Given the description of an element on the screen output the (x, y) to click on. 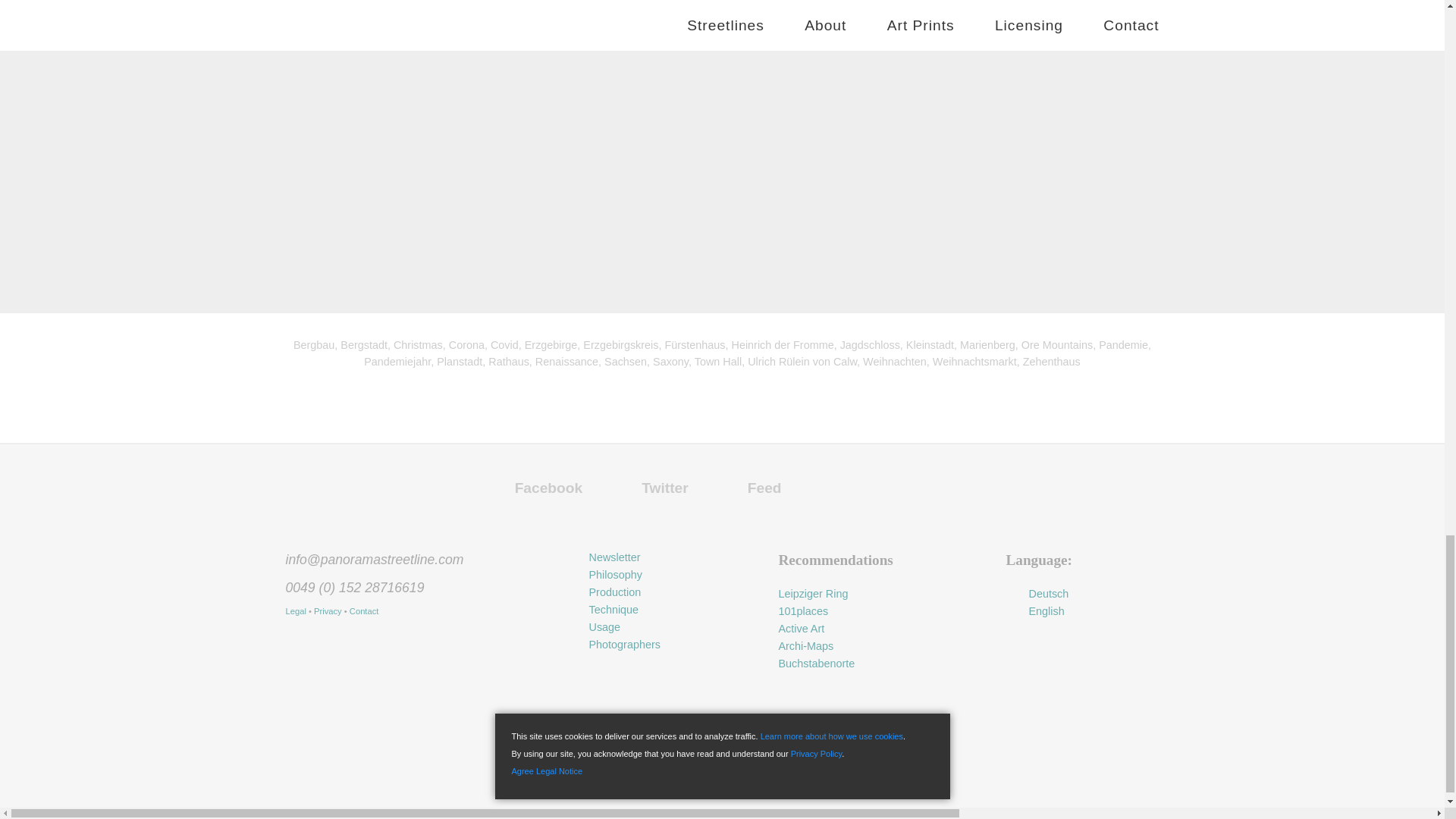
Follow us on Tumblr (884, 468)
Sachsen (625, 361)
Town Hall (717, 361)
Jagdschloss (869, 345)
Heinrich der Fromme (781, 345)
Renaissance (566, 361)
Follow us on Flickr (936, 468)
Pandemiejahr (397, 361)
Follow us on Twitter (661, 488)
Facebook (545, 488)
